Given the description of an element on the screen output the (x, y) to click on. 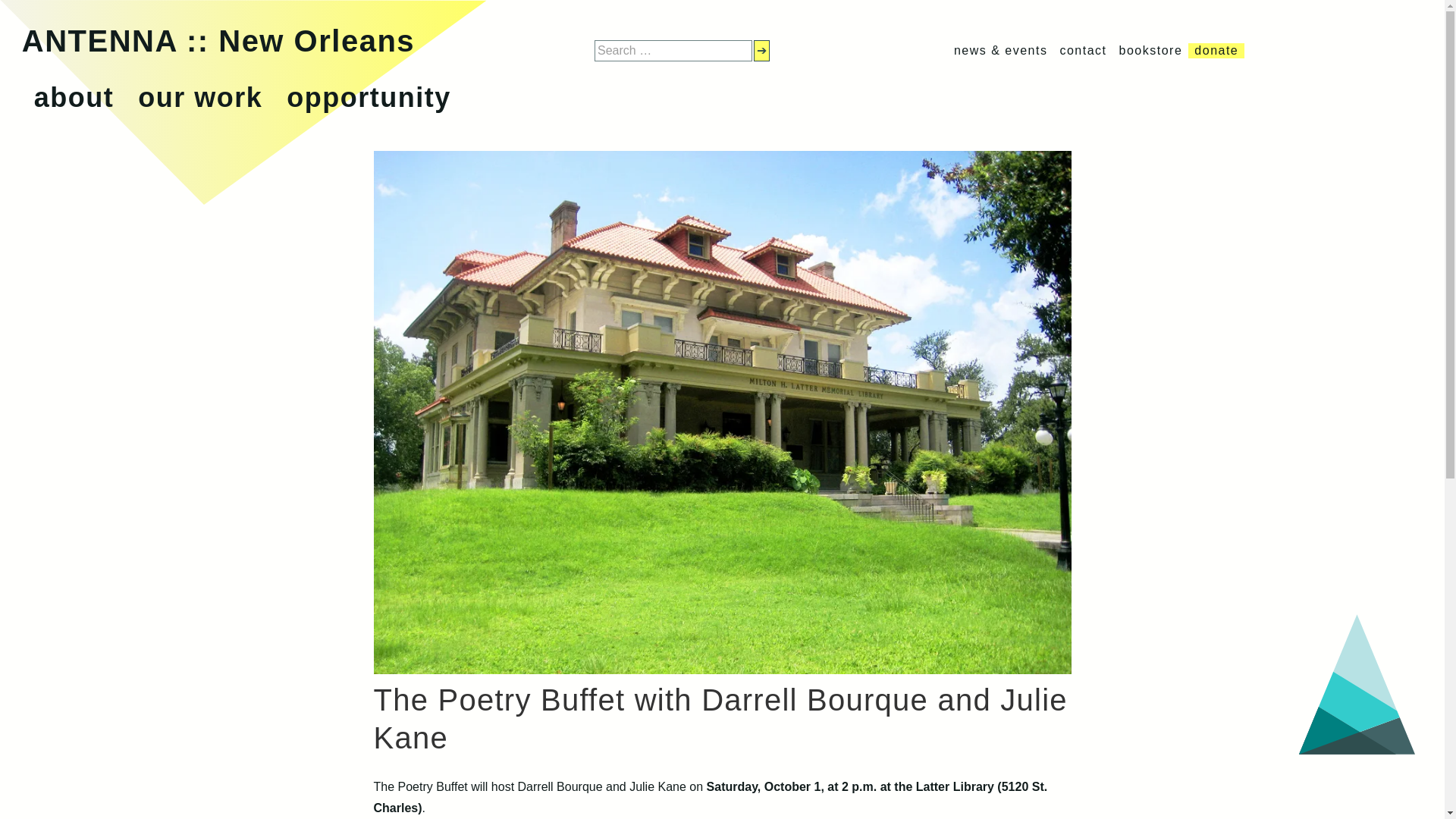
Antenna (217, 40)
opportunity (367, 97)
bookstore (1150, 50)
The Poetry Buffet with Darrell Bourque and Julie Kane (721, 669)
donate (1216, 50)
contact (1082, 50)
our work (200, 97)
ANTENNA :: New Orleans (217, 40)
about (73, 97)
